Given the description of an element on the screen output the (x, y) to click on. 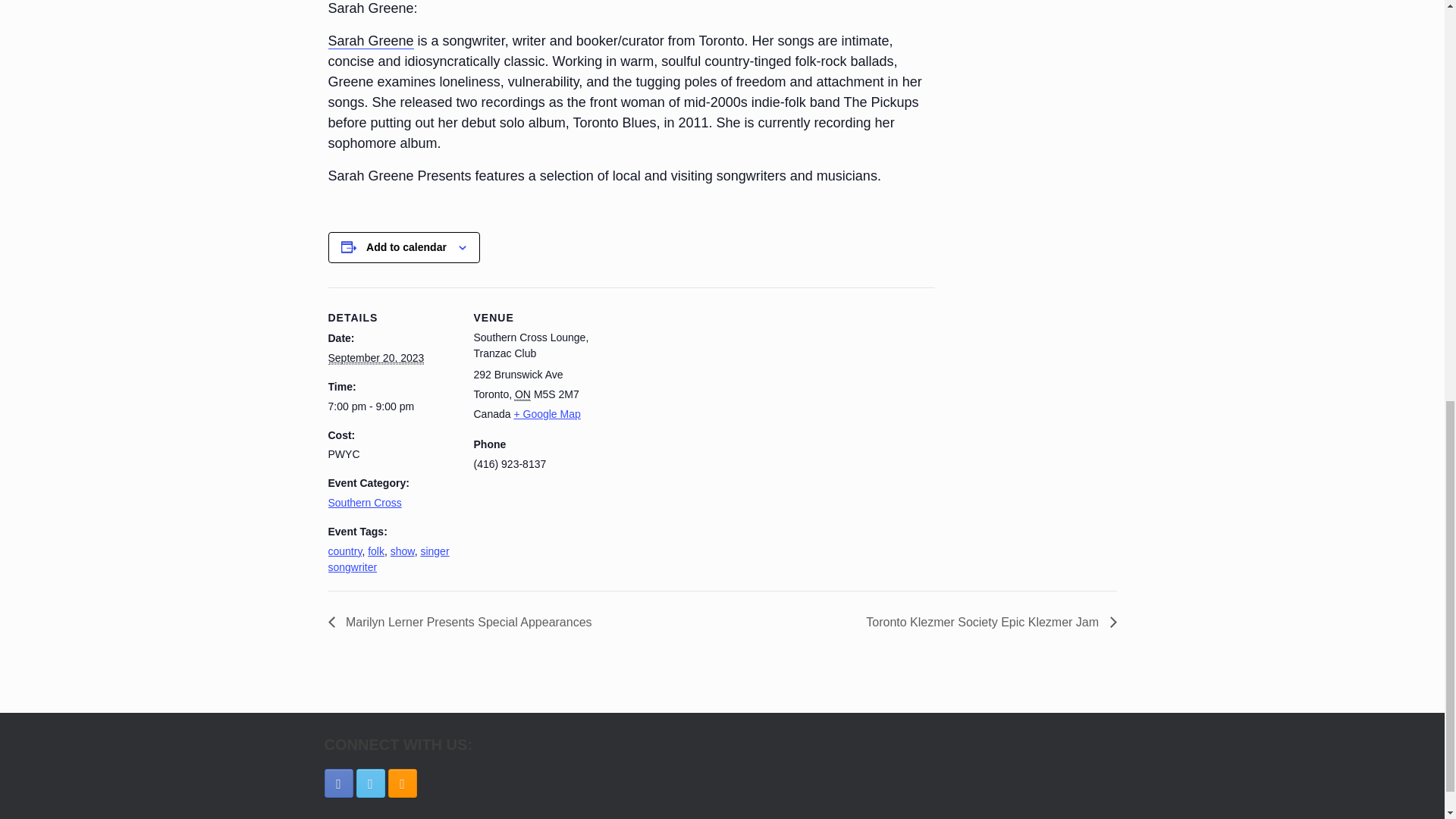
Toronto Klezmer Society Epic Klezmer Jam (986, 621)
Marilyn Lerner Presents Special Appearances (463, 621)
Tranzac Club RSS (402, 783)
country (344, 551)
Southern Cross (364, 502)
Tranzac Club Facebook (338, 783)
2023-09-20 (390, 406)
ON (523, 394)
Add to calendar (406, 246)
